Given the description of an element on the screen output the (x, y) to click on. 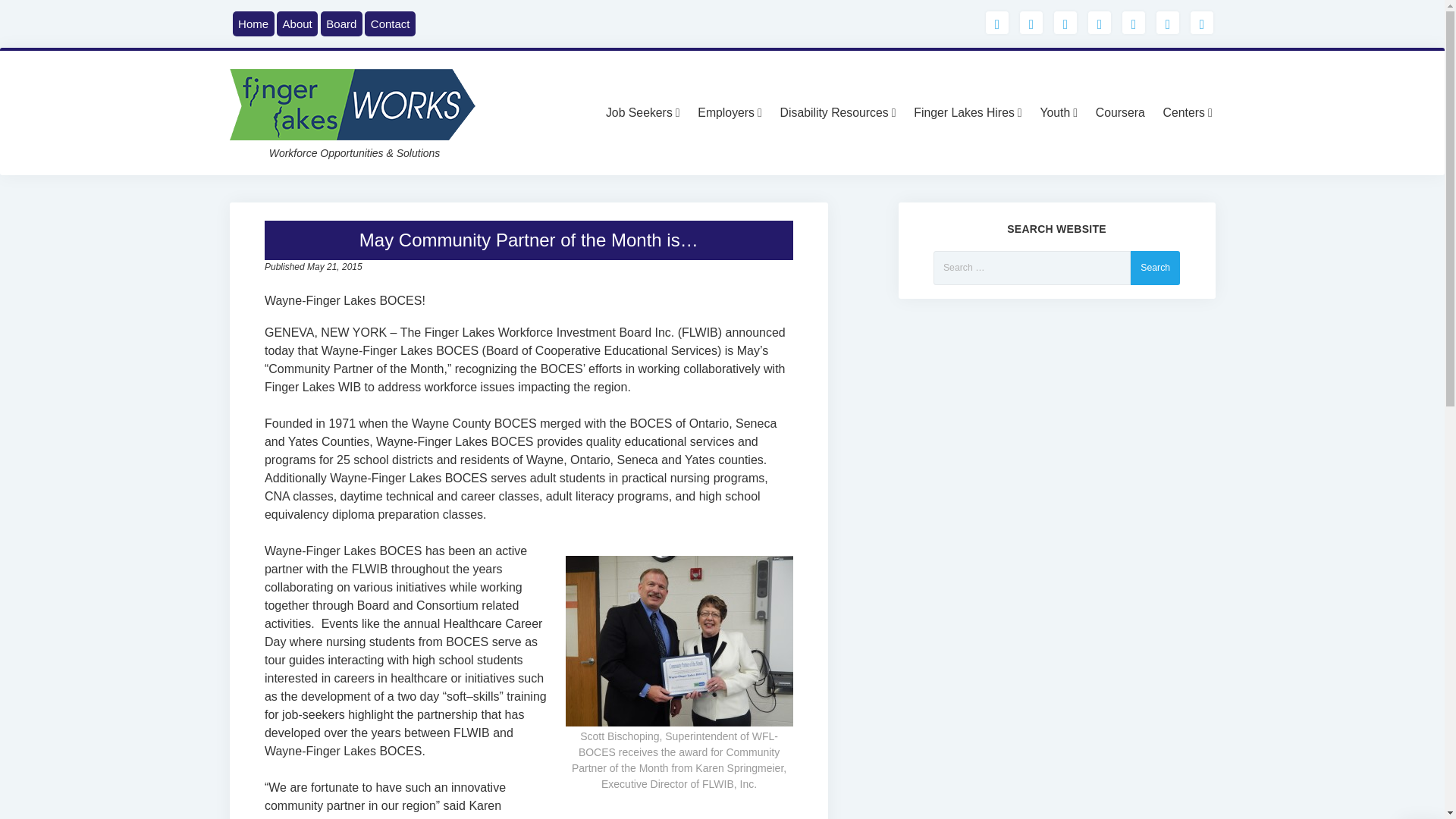
Search (1155, 267)
Finger Lakes Hires (968, 112)
Disability Resources (839, 112)
About (296, 23)
Employers (730, 112)
Contact (389, 23)
Home (253, 23)
Search (1155, 267)
Job Seekers (643, 112)
Board (341, 23)
